Given the description of an element on the screen output the (x, y) to click on. 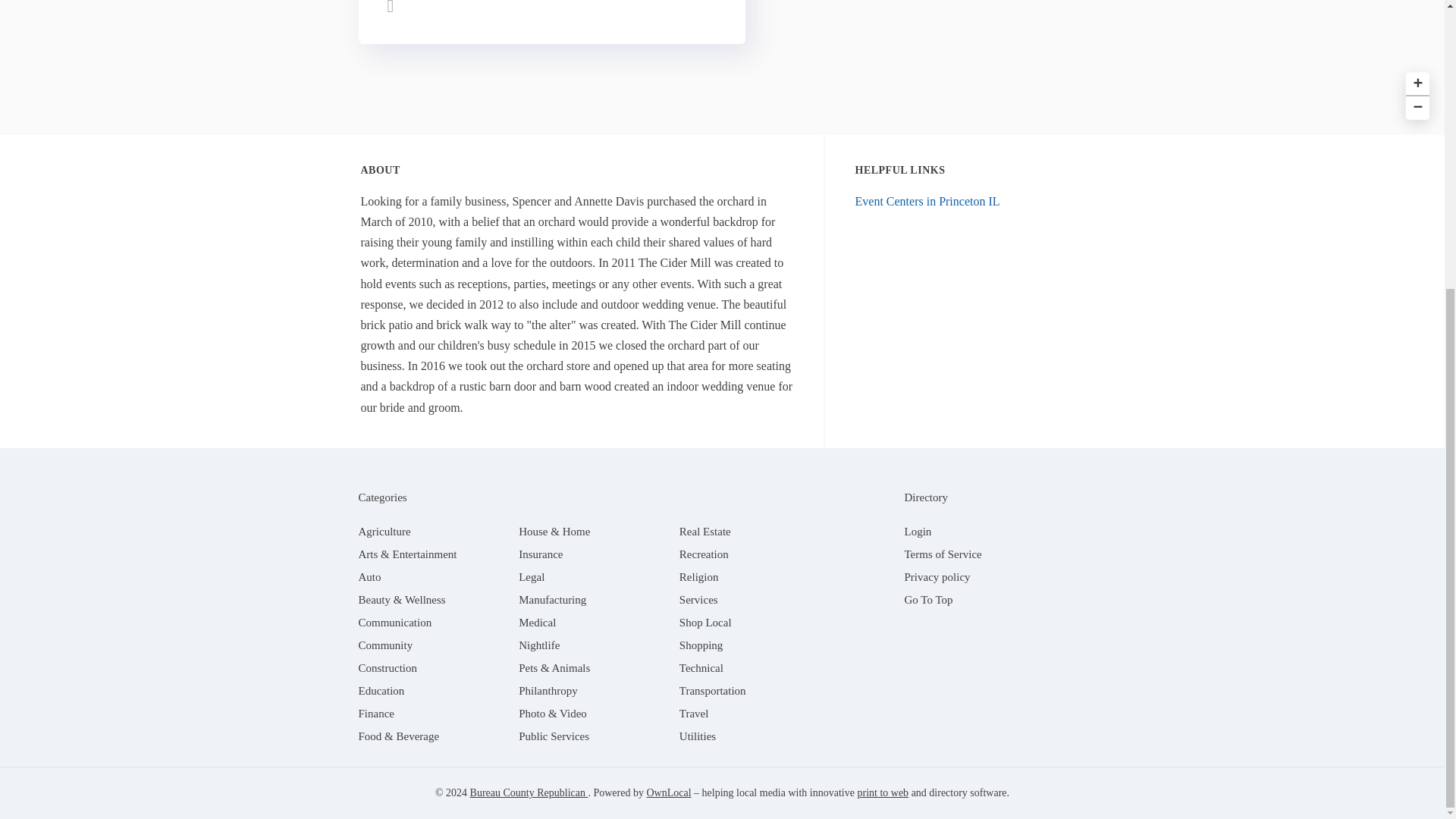
Agriculture (384, 531)
Zoom out (1415, 106)
Public Services (553, 736)
Communication (394, 622)
Education (381, 690)
translation missing: en.login (917, 531)
Real Estate (704, 531)
Manufacturing (552, 599)
Medical (537, 622)
Community (385, 645)
